Given the description of an element on the screen output the (x, y) to click on. 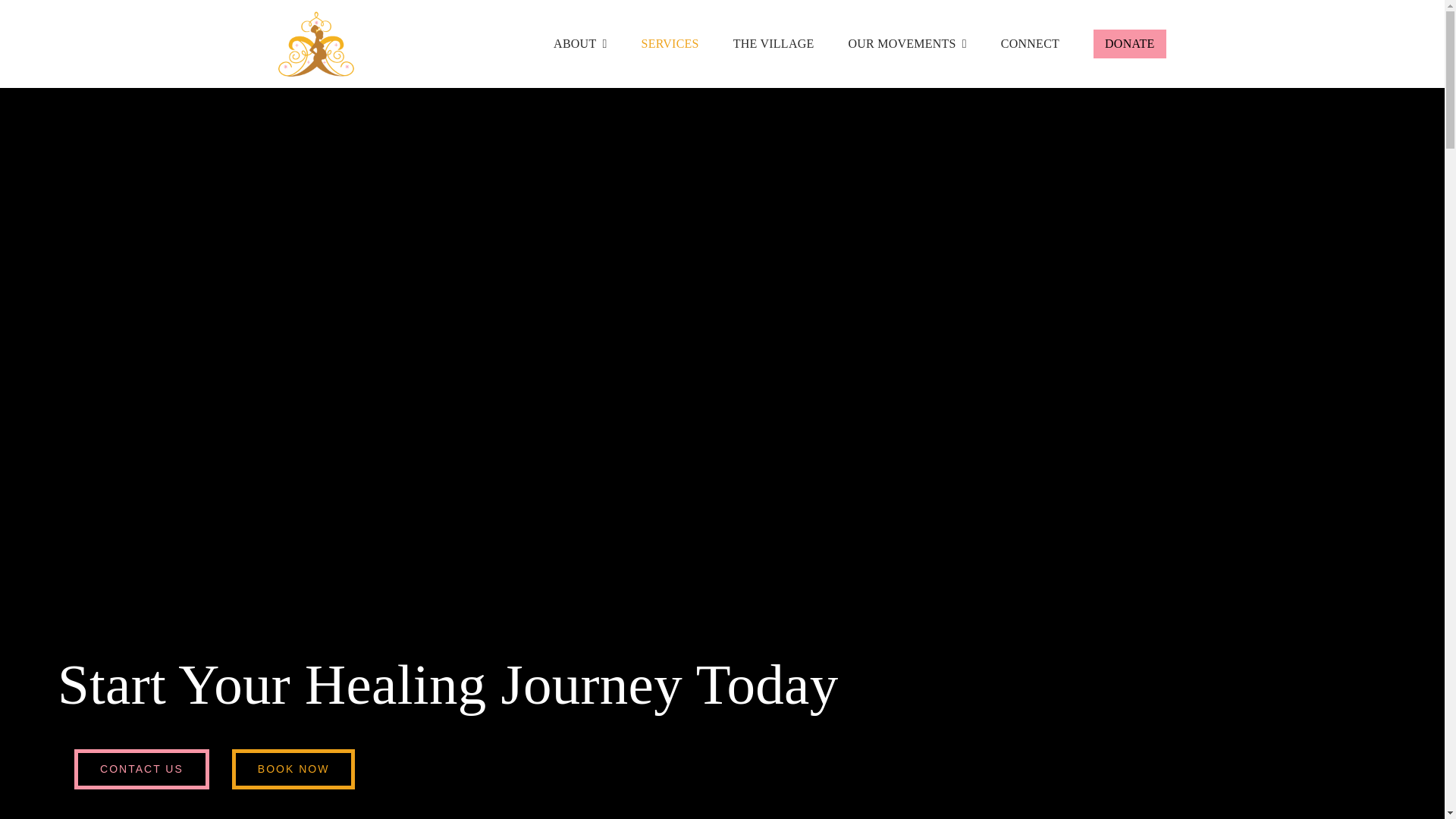
CONTACT US (141, 769)
THE VILLAGE (773, 43)
DONATE (1129, 43)
SERVICES (670, 43)
OUR MOVEMENTS (906, 43)
BOOK NOW (293, 769)
ABOUT (580, 43)
CONNECT (1030, 43)
